Given the description of an element on the screen output the (x, y) to click on. 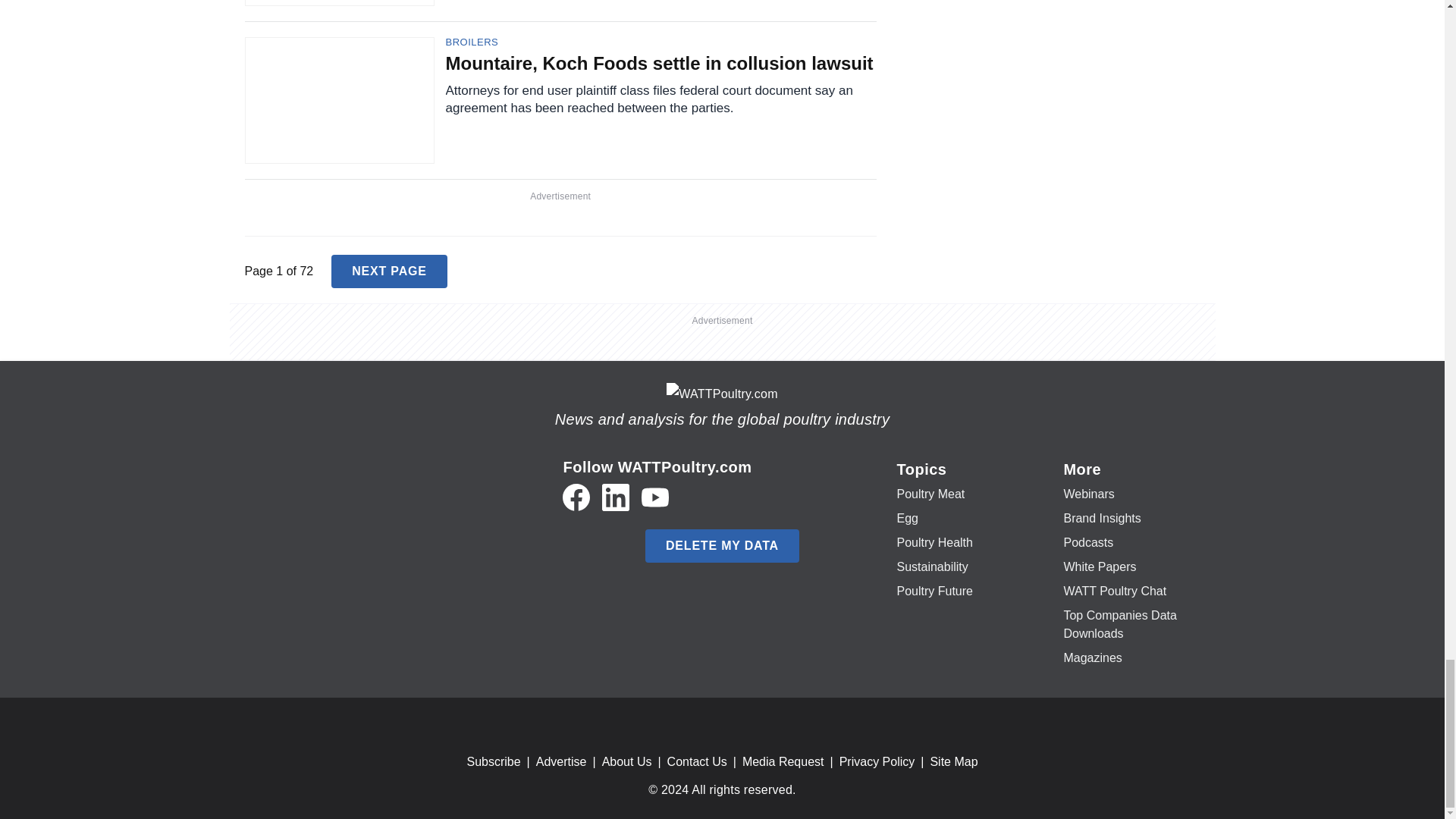
YouTube icon (655, 497)
Facebook icon (575, 497)
LinkedIn icon (615, 497)
